Given the description of an element on the screen output the (x, y) to click on. 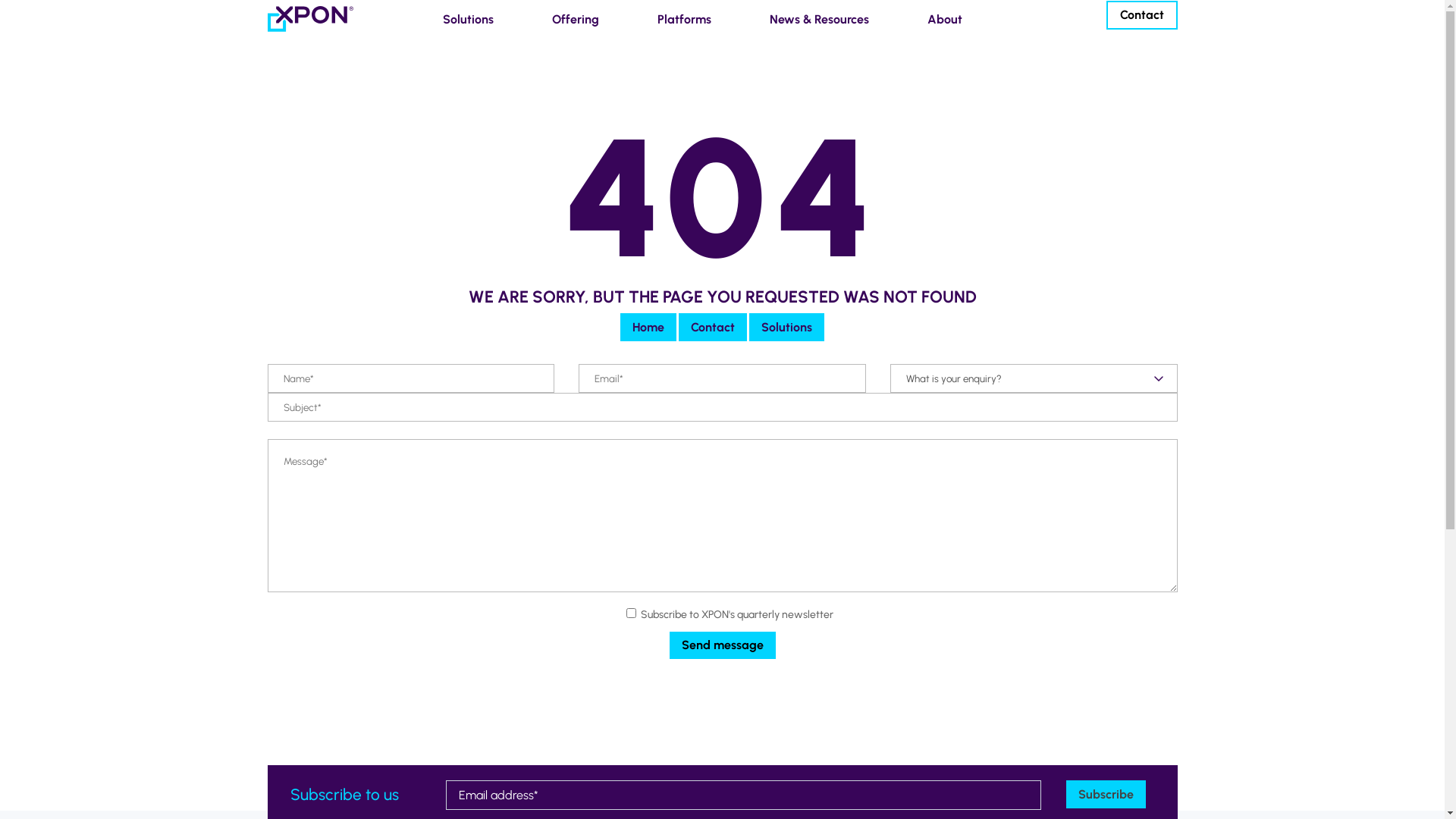
xpon-logo Element type: hover (309, 18)
Contact Element type: text (712, 327)
Send message Element type: text (721, 645)
Home Element type: text (648, 327)
Offering Element type: text (570, 19)
Subscribe Element type: text (1105, 794)
Contact Element type: text (1140, 14)
News & Resources Element type: text (814, 19)
Platforms Element type: text (679, 19)
Solutions Element type: text (786, 327)
About Element type: text (940, 19)
Solutions Element type: text (463, 19)
